Given the description of an element on the screen output the (x, y) to click on. 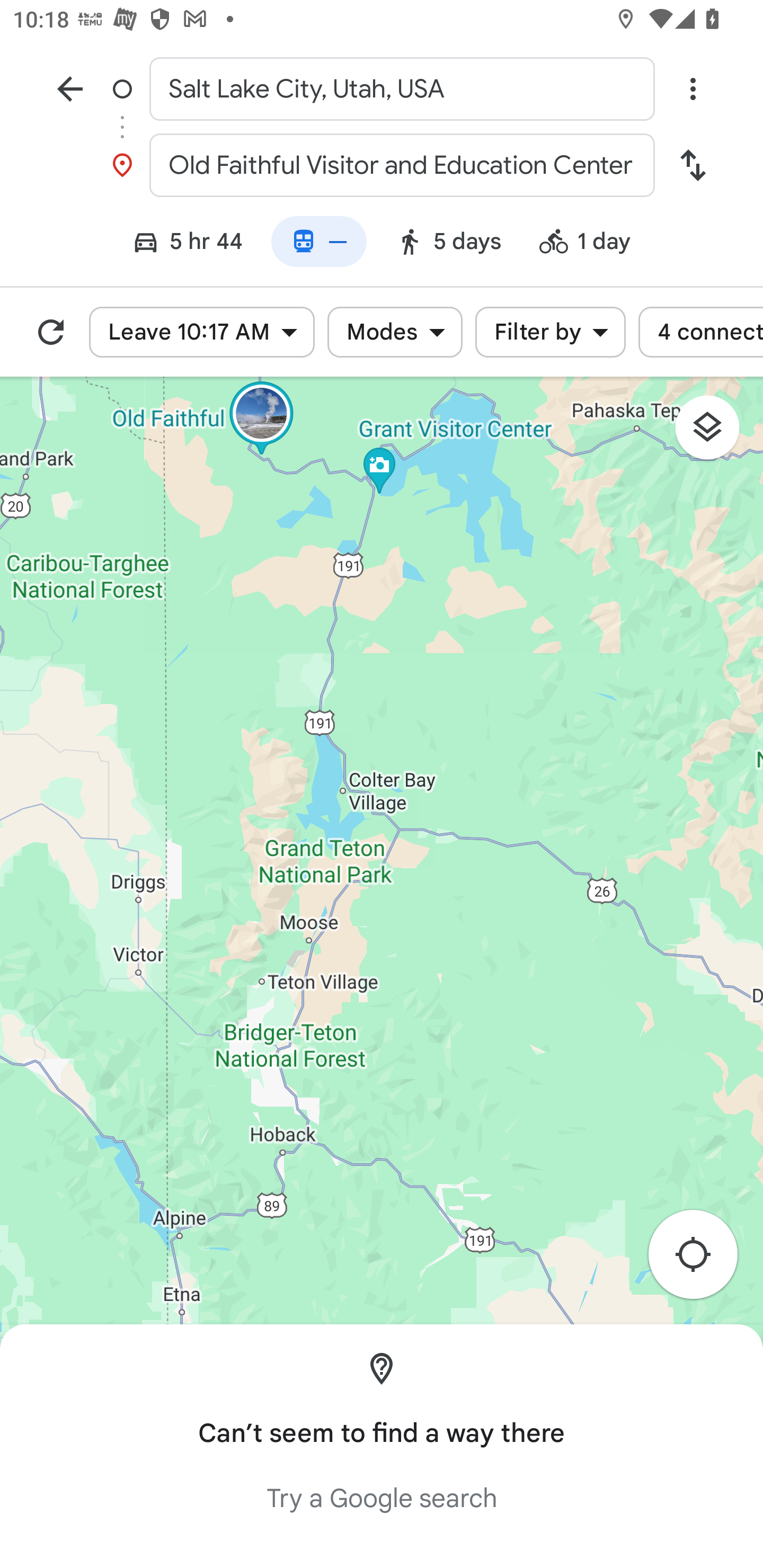
Navigate up (70, 88)
Overflow menu (692, 88)
Swap start and destination (692, 165)
Driving mode: 5 hr 44 5 hr 44 (178, 244)
Walking mode: 5 days 5 days (448, 244)
Bicycling mode: 1 day 1 day (593, 244)
Refresh (50, 332)
Leave 10:17 AM Leave 10:17 AM Leave 10:17 AM (201, 332)
Modes Modes Modes (394, 332)
Filter by Filter by Filter by (550, 332)
Layers (716, 433)
Re-center map to your location (702, 1260)
